Given the description of an element on the screen output the (x, y) to click on. 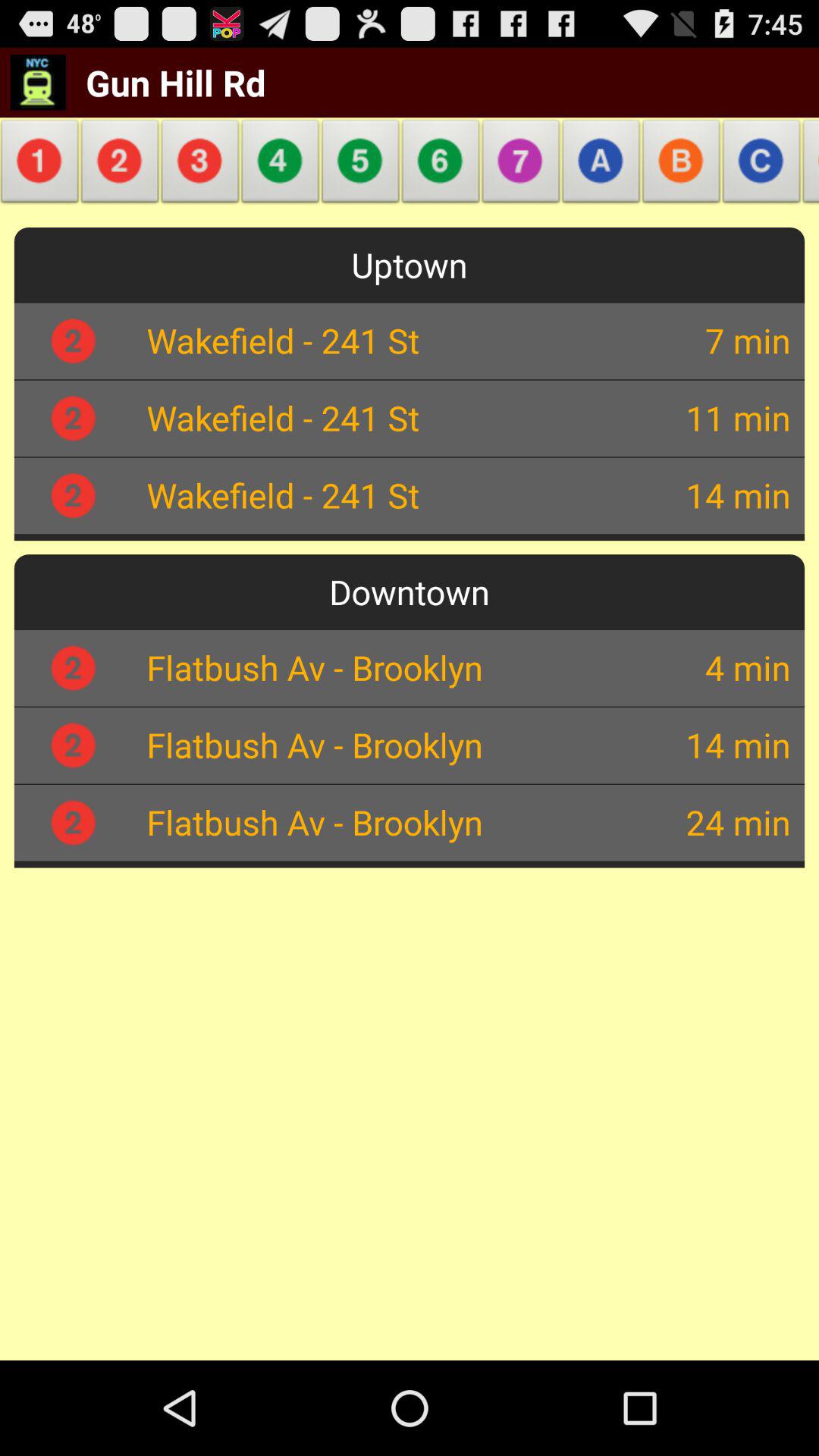
launch the item above uptown app (200, 165)
